Given the description of an element on the screen output the (x, y) to click on. 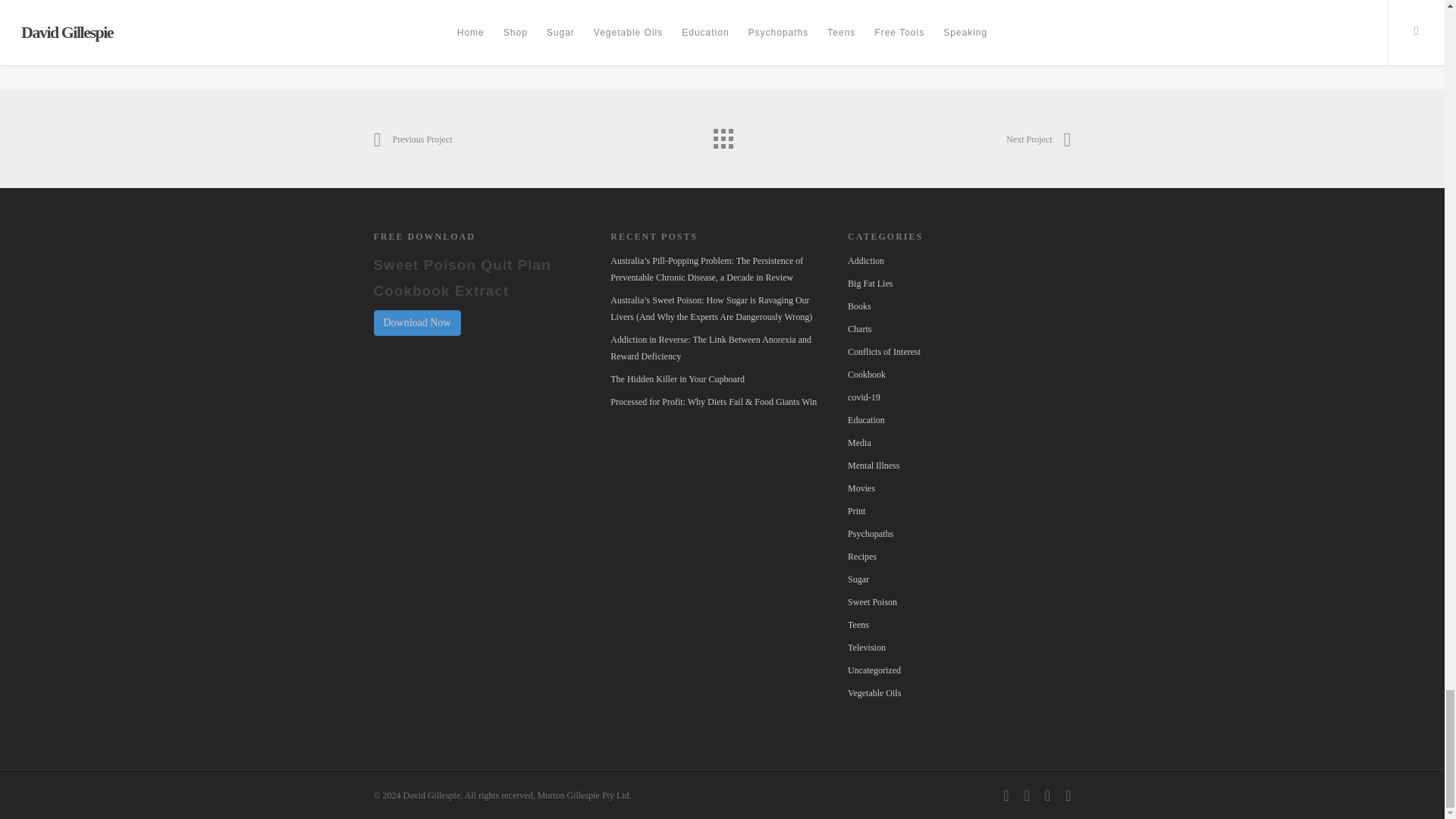
Back to all projects (721, 134)
Submit Comment (722, 10)
